Given the description of an element on the screen output the (x, y) to click on. 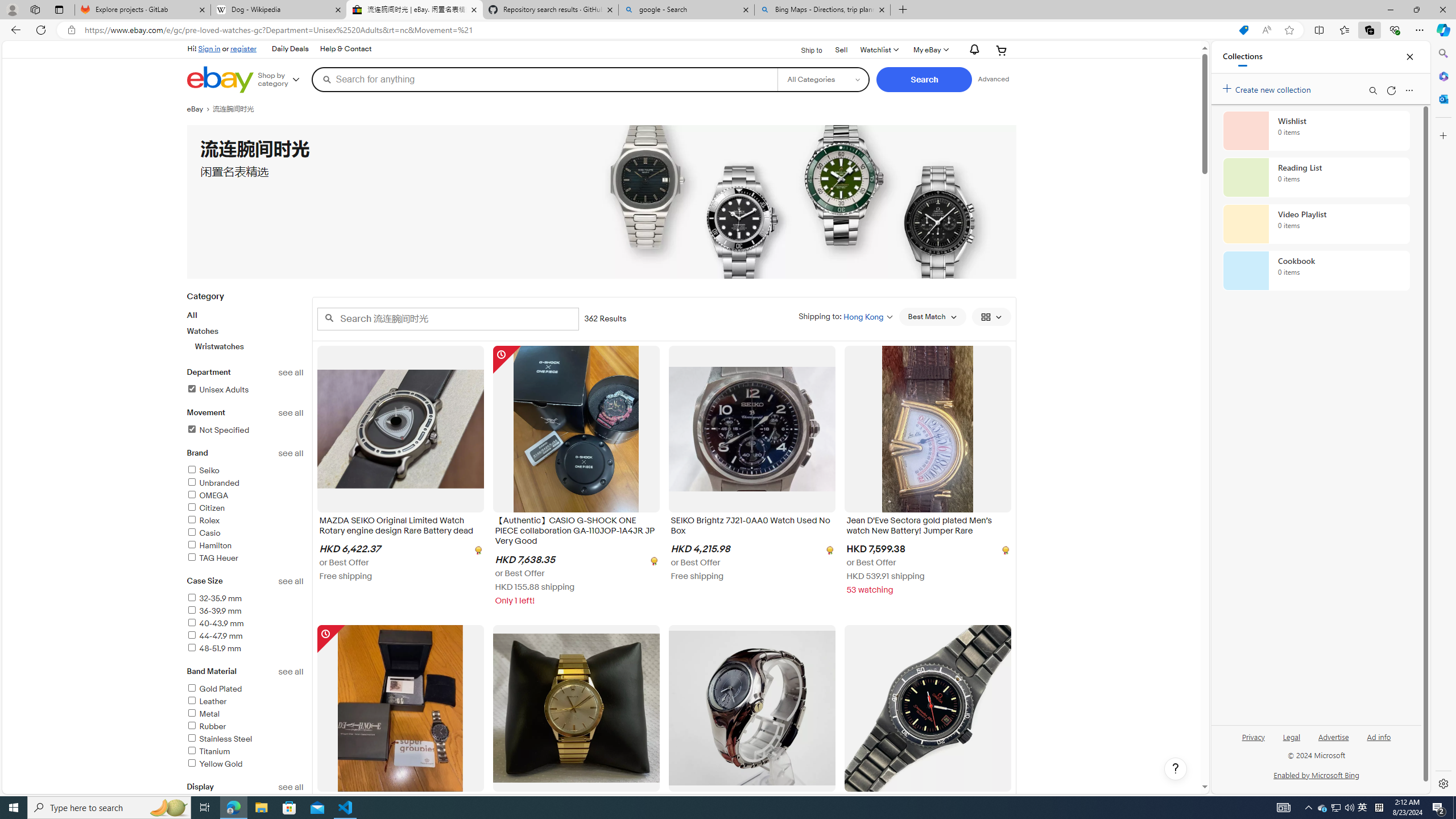
View: Gallery View (991, 316)
40-43.9 mm (215, 623)
All (192, 315)
More options menu (1409, 90)
Leather (206, 700)
See all brand refinements (291, 452)
Casio (203, 533)
See all movement refinements (291, 412)
Departmentsee allUnisex AdultsFilter Applied (245, 387)
Help, opens dialogs (1175, 768)
Shop by category (282, 79)
